Given the description of an element on the screen output the (x, y) to click on. 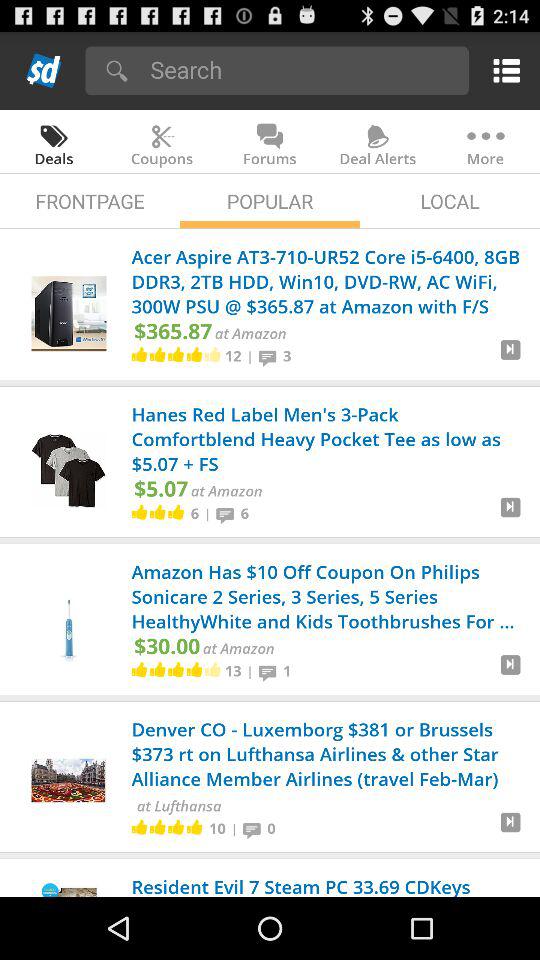
go to deal (510, 830)
